Given the description of an element on the screen output the (x, y) to click on. 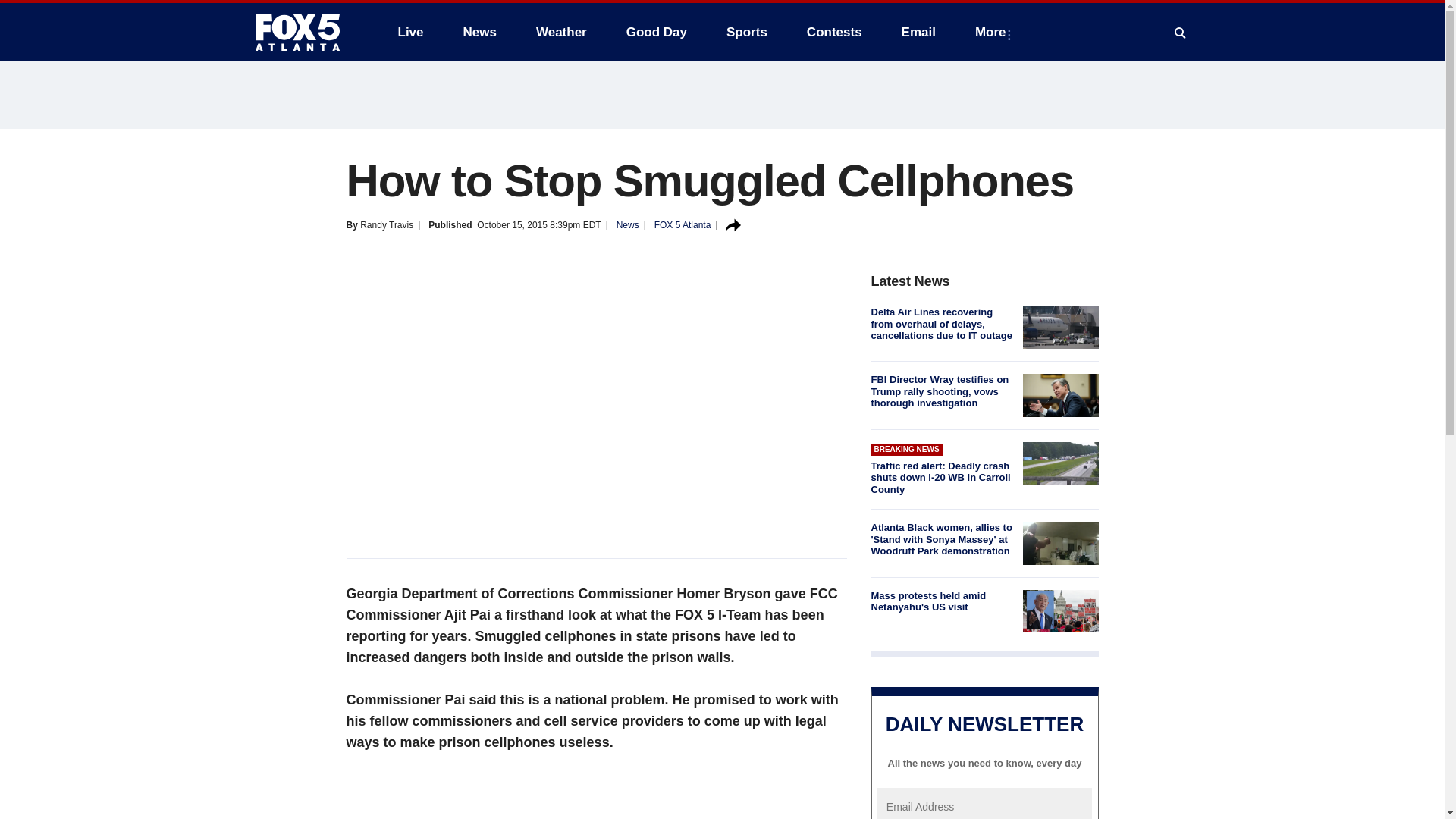
Email (918, 32)
News (479, 32)
Contests (834, 32)
More (993, 32)
Sports (746, 32)
Weather (561, 32)
Live (410, 32)
Good Day (656, 32)
